Given the description of an element on the screen output the (x, y) to click on. 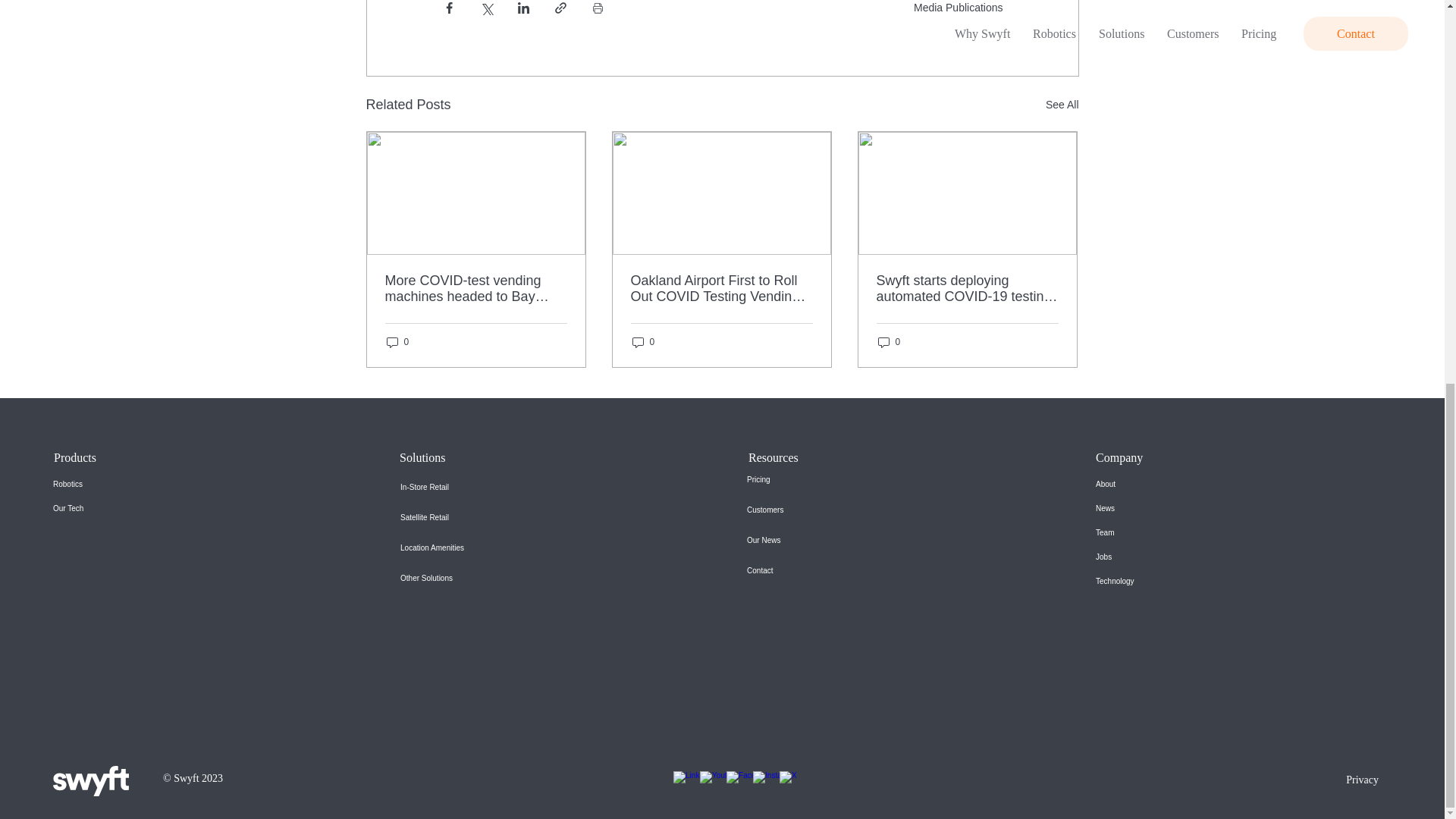
0 (397, 341)
Customers (805, 510)
Other Solutions (459, 578)
Robotics (111, 484)
Location Amenities (459, 548)
Pricing (805, 480)
Our News (805, 540)
Media Publications (958, 7)
Satellite Retail (459, 517)
